Given the description of an element on the screen output the (x, y) to click on. 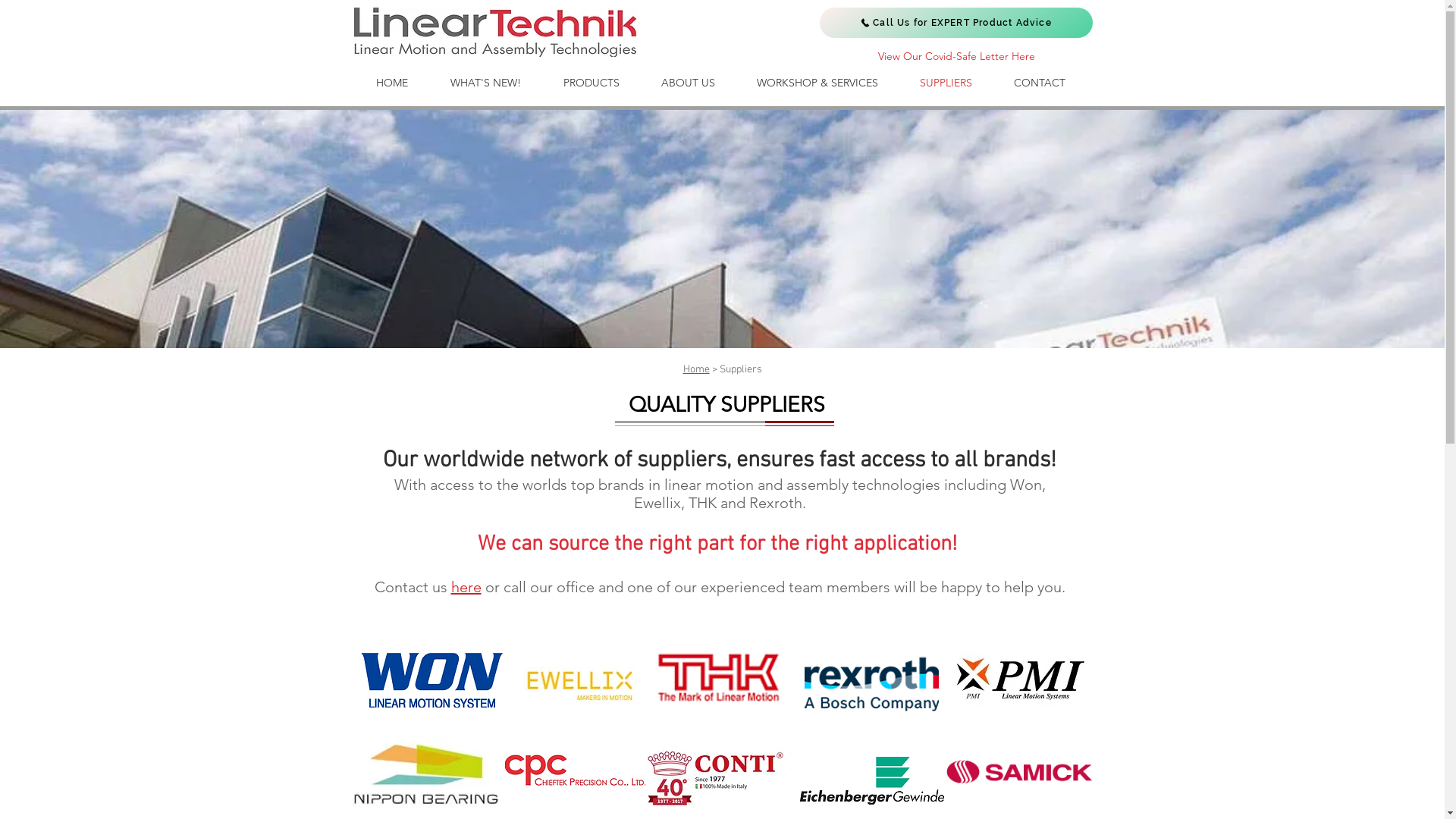
here Element type: text (465, 586)
CONTACT Element type: text (1039, 82)
Precision Miniature rail, bearing block assemblies Element type: hover (574, 770)
High Helix Lead Screws Element type: hover (871, 780)
HOME Element type: text (391, 82)
WORKSHOP & SERVICES Element type: text (816, 82)
ABOUT US Element type: text (687, 82)
Trapezoidal Screws, Bronze Nuts Element type: hover (718, 777)
Linear Technik Element type: hover (495, 31)
Call Us for EXPERT Product Advice Element type: text (955, 22)
SUPPLIERS Element type: text (946, 82)
THK Element type: hover (717, 676)
Home Element type: text (695, 369)
View Our Covid-Safe Letter Here Element type: text (956, 56)
PRODUCTS Element type: text (590, 82)
WHAT'S NEW! Element type: text (485, 82)
